Given the description of an element on the screen output the (x, y) to click on. 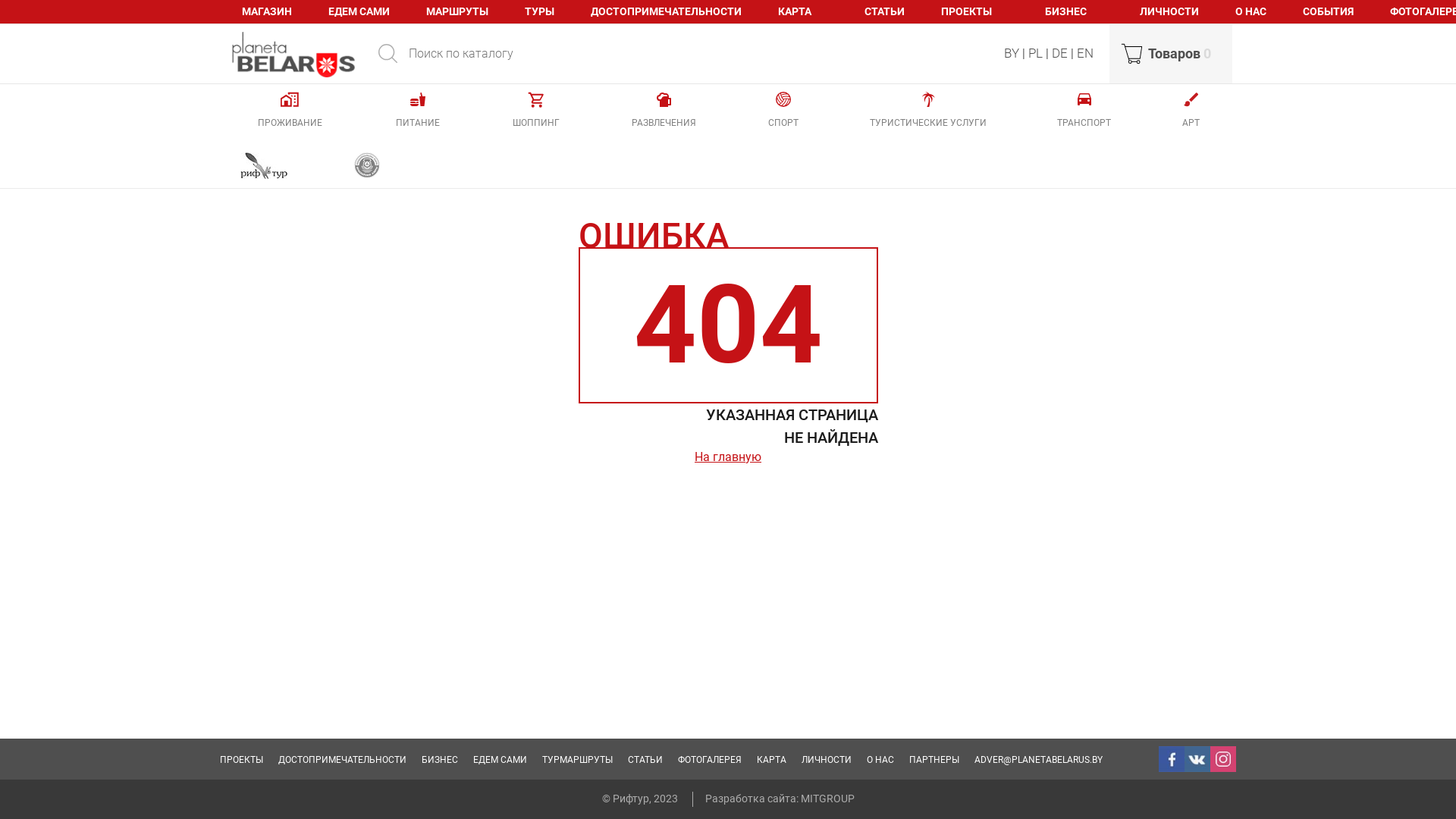
PL Element type: text (1035, 52)
EN Element type: text (1084, 52)
DE Element type: text (1059, 52)
: MITGROUP Element type: text (825, 798)
ADVER@PLANETABELARUS.BY Element type: text (1038, 759)
BY Element type: text (1011, 52)
